Given the description of an element on the screen output the (x, y) to click on. 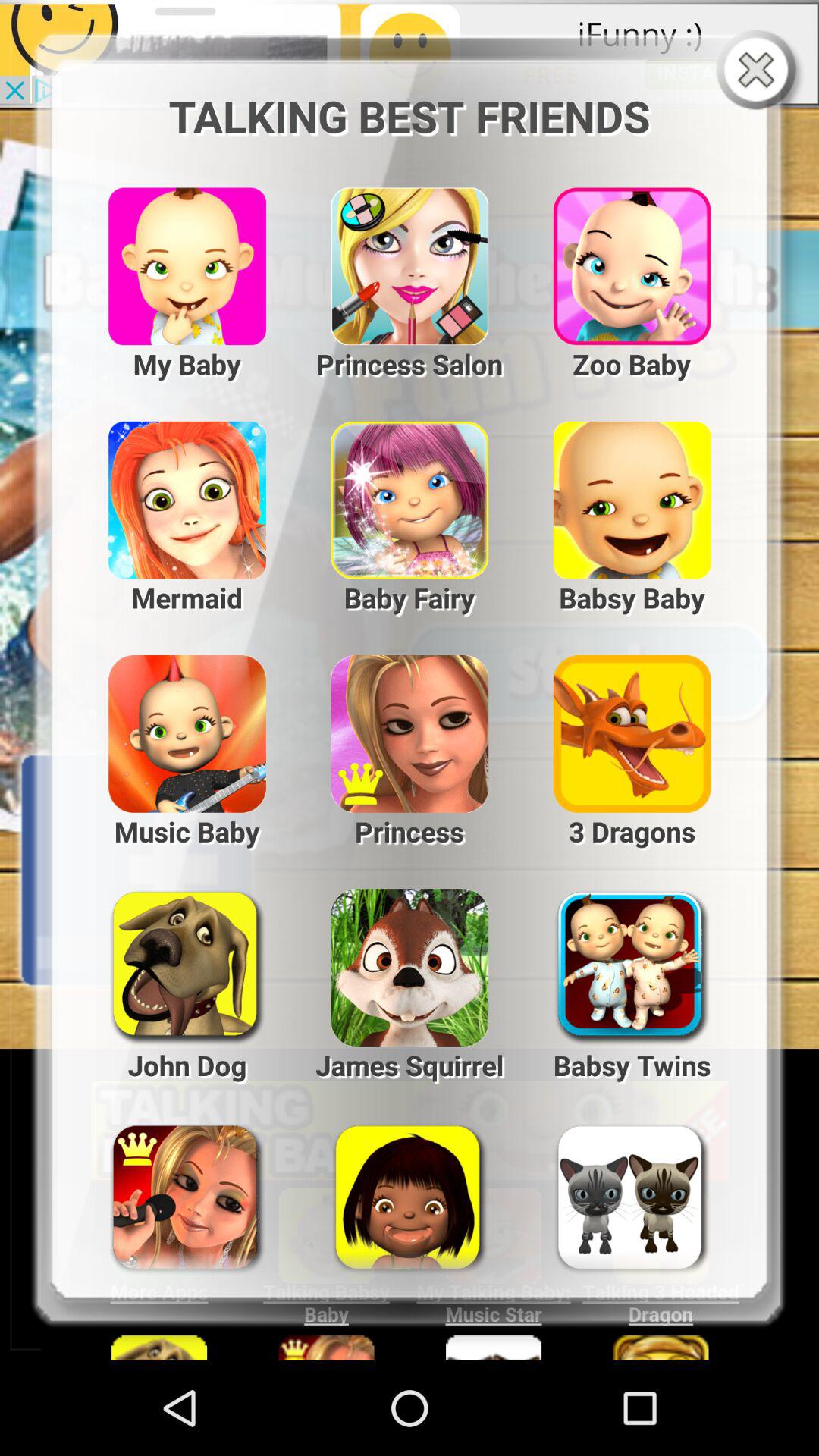
window close (759, 71)
